Given the description of an element on the screen output the (x, y) to click on. 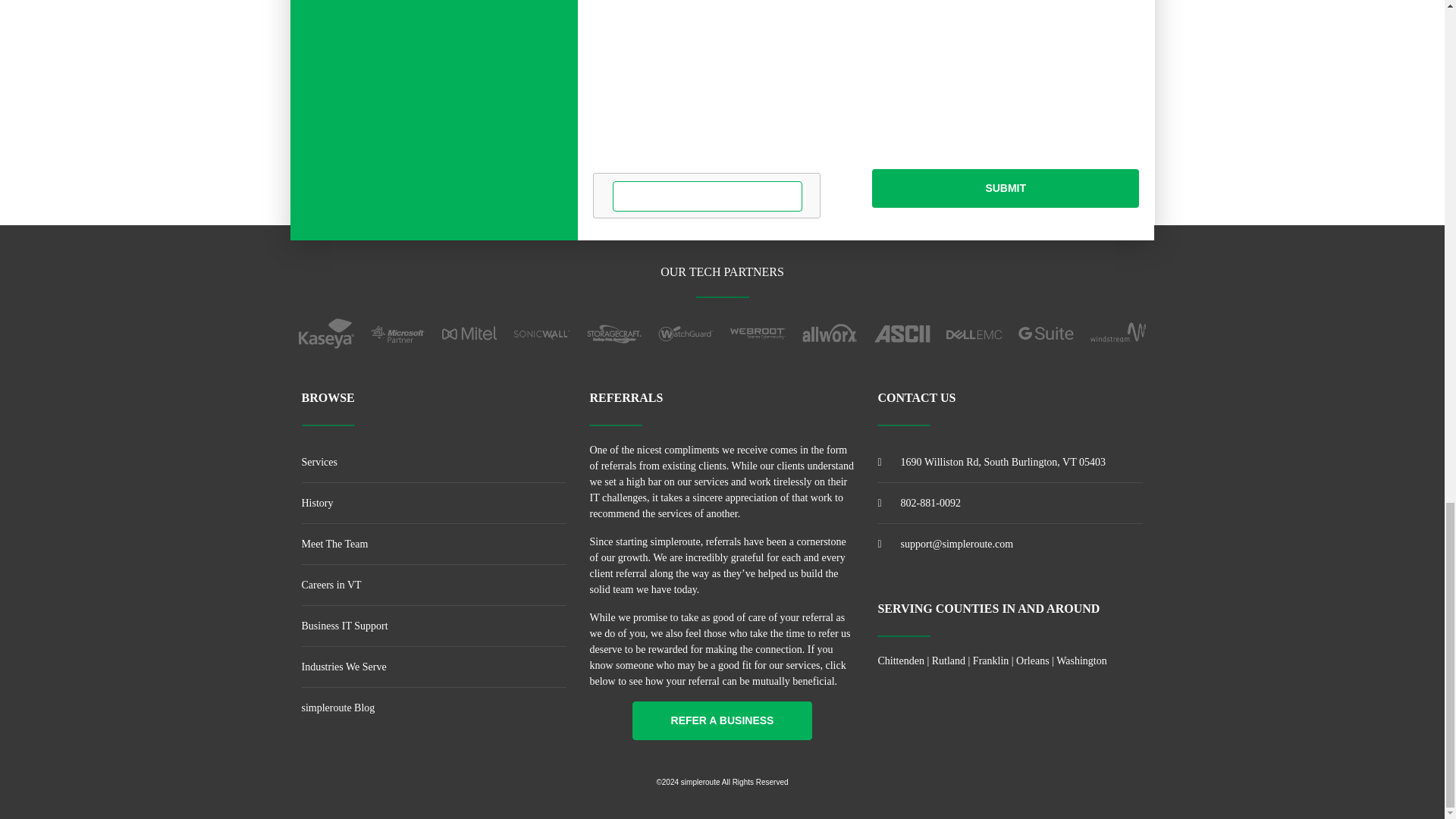
Submit (1006, 188)
